Given the description of an element on the screen output the (x, y) to click on. 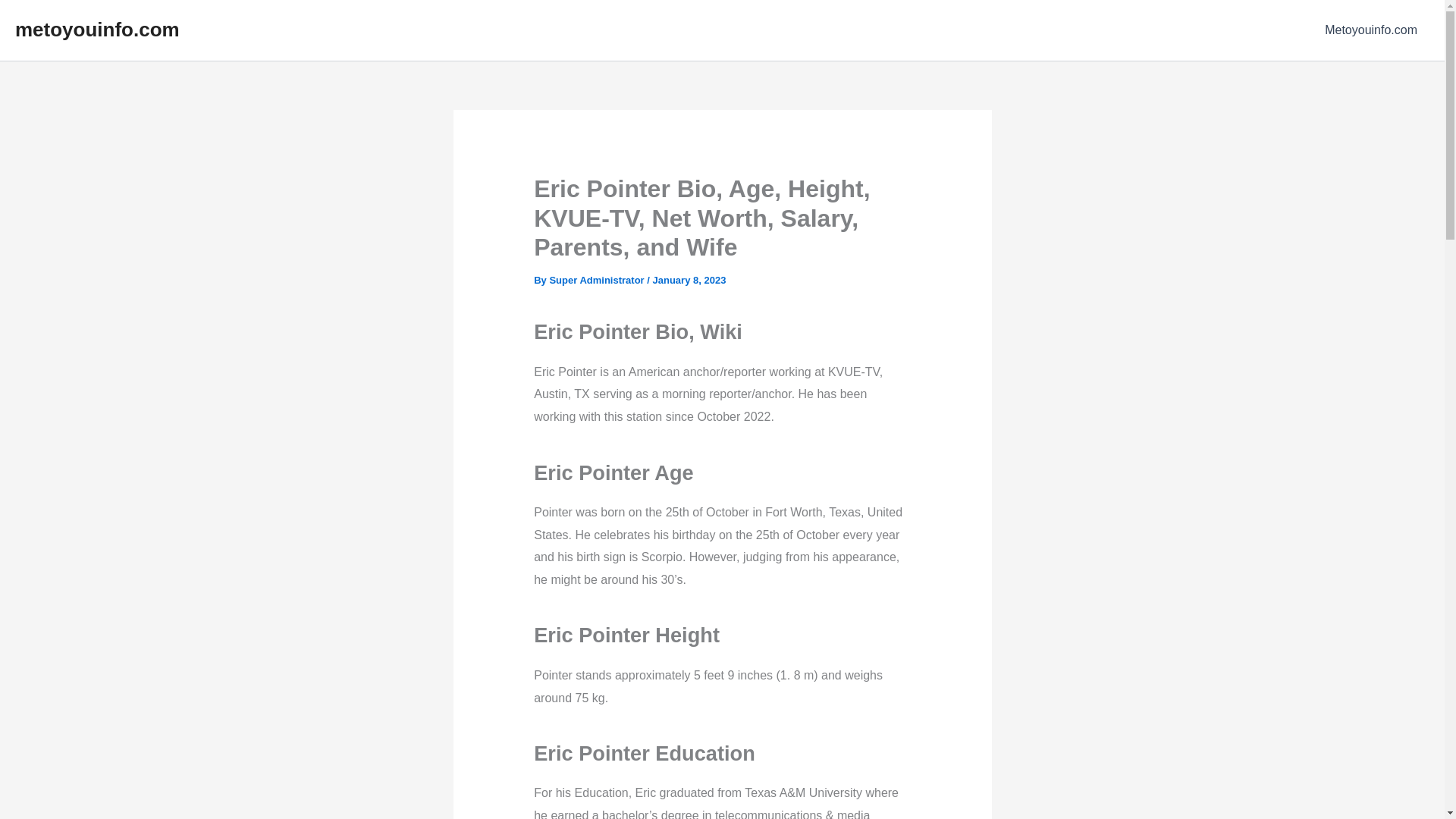
View all posts by Super Administrator (597, 279)
metoyouinfo.com (96, 29)
Super Administrator (597, 279)
Metoyouinfo.com (1371, 30)
